Given the description of an element on the screen output the (x, y) to click on. 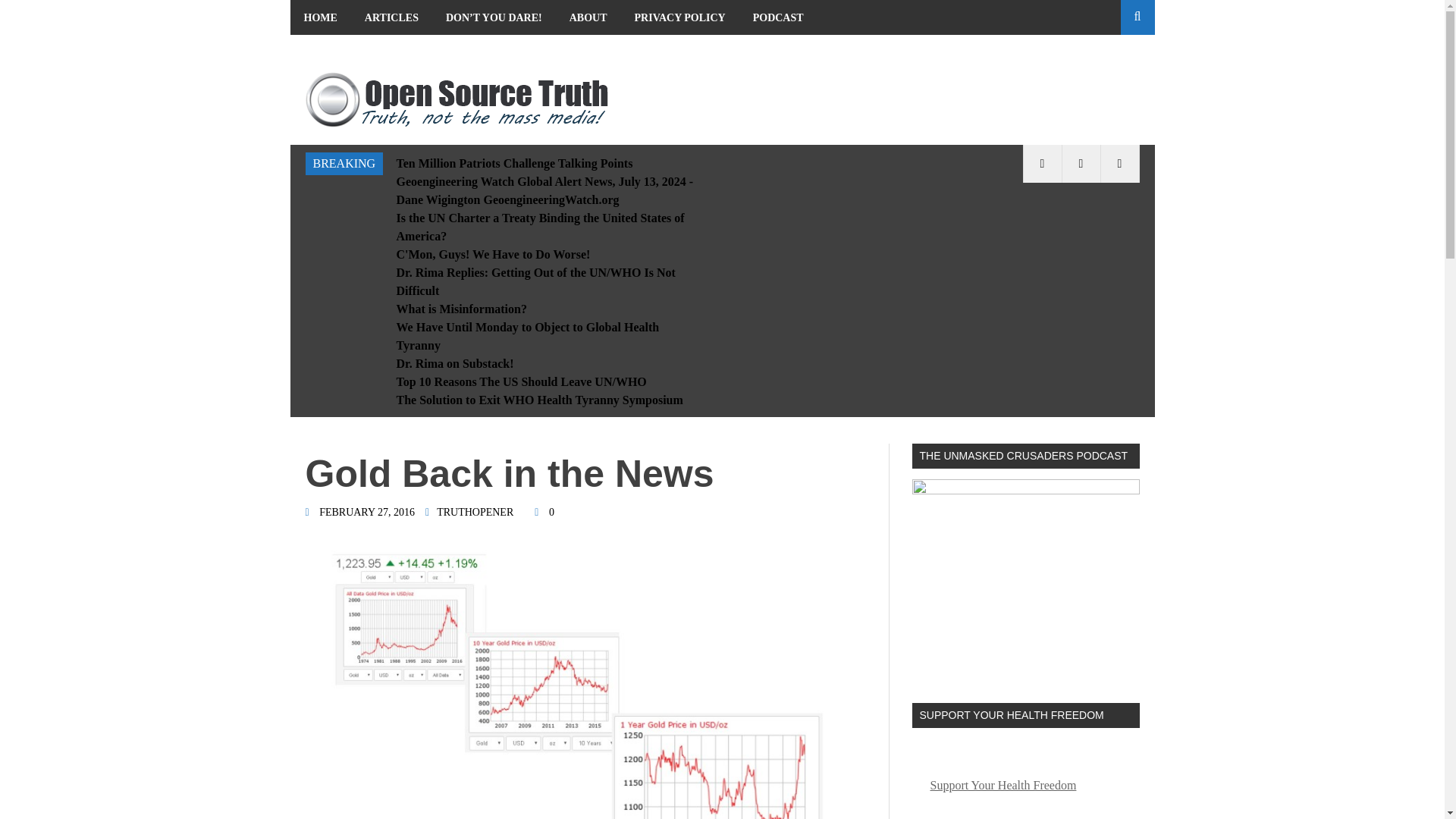
The Unmasked Crusaders Weekly Podcast (1024, 579)
PRIVACY POLICY (680, 17)
The Solution to Exit WHO Health Tyranny Symposium (539, 399)
Dr. Rima on Substack! (454, 363)
MEMES (322, 52)
ABOUT (588, 17)
Ten Million Patriots Challenge Talking Points (513, 163)
We Have Until Monday to Object to Global Health Tyranny (527, 336)
